Given the description of an element on the screen output the (x, y) to click on. 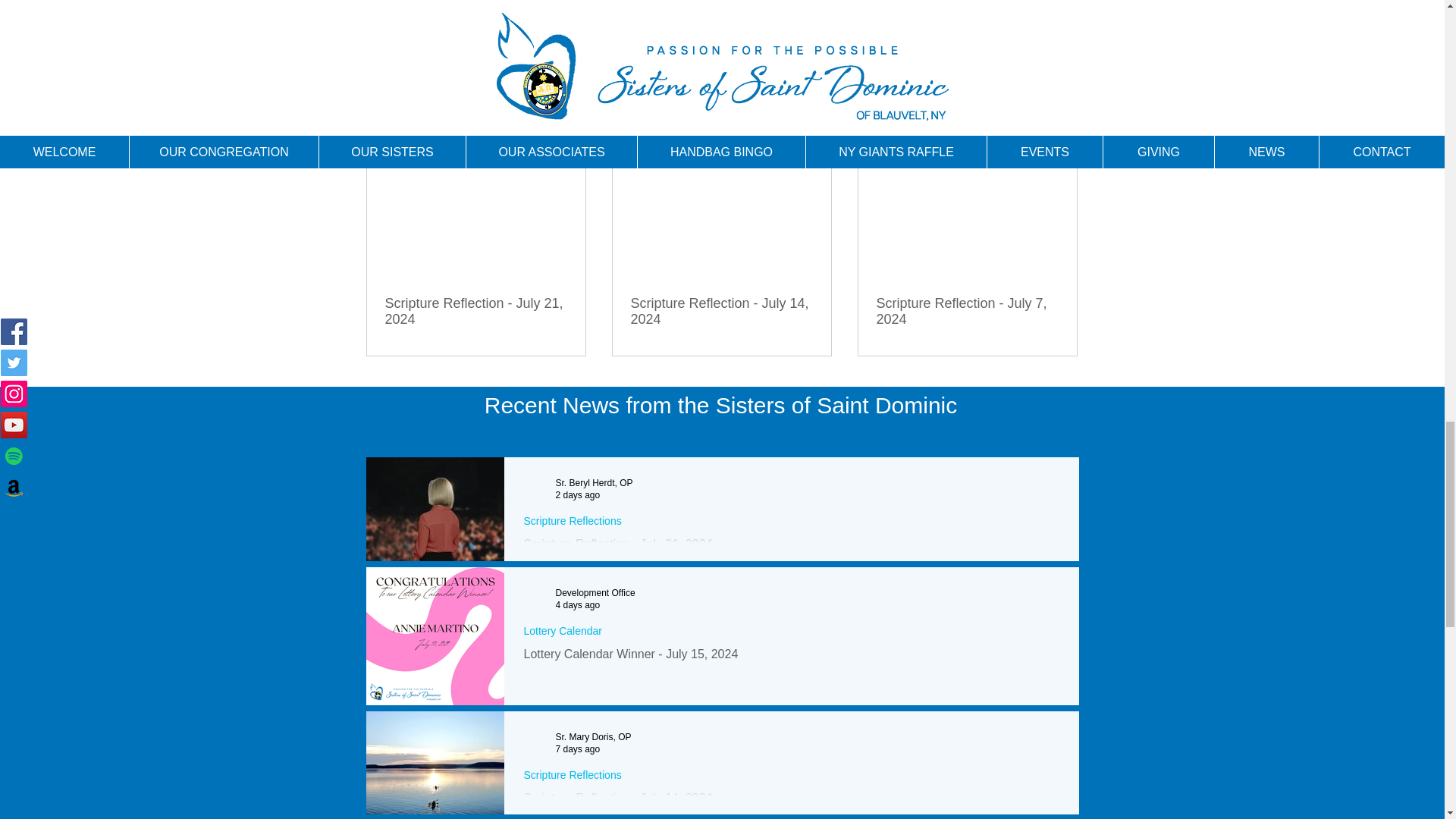
Sr. Mary Doris, OP (592, 737)
4 days ago (576, 604)
2 days ago (576, 494)
Sr. Beryl Herdt, OP (592, 482)
7 days ago (576, 748)
Development Office (594, 593)
